Given the description of an element on the screen output the (x, y) to click on. 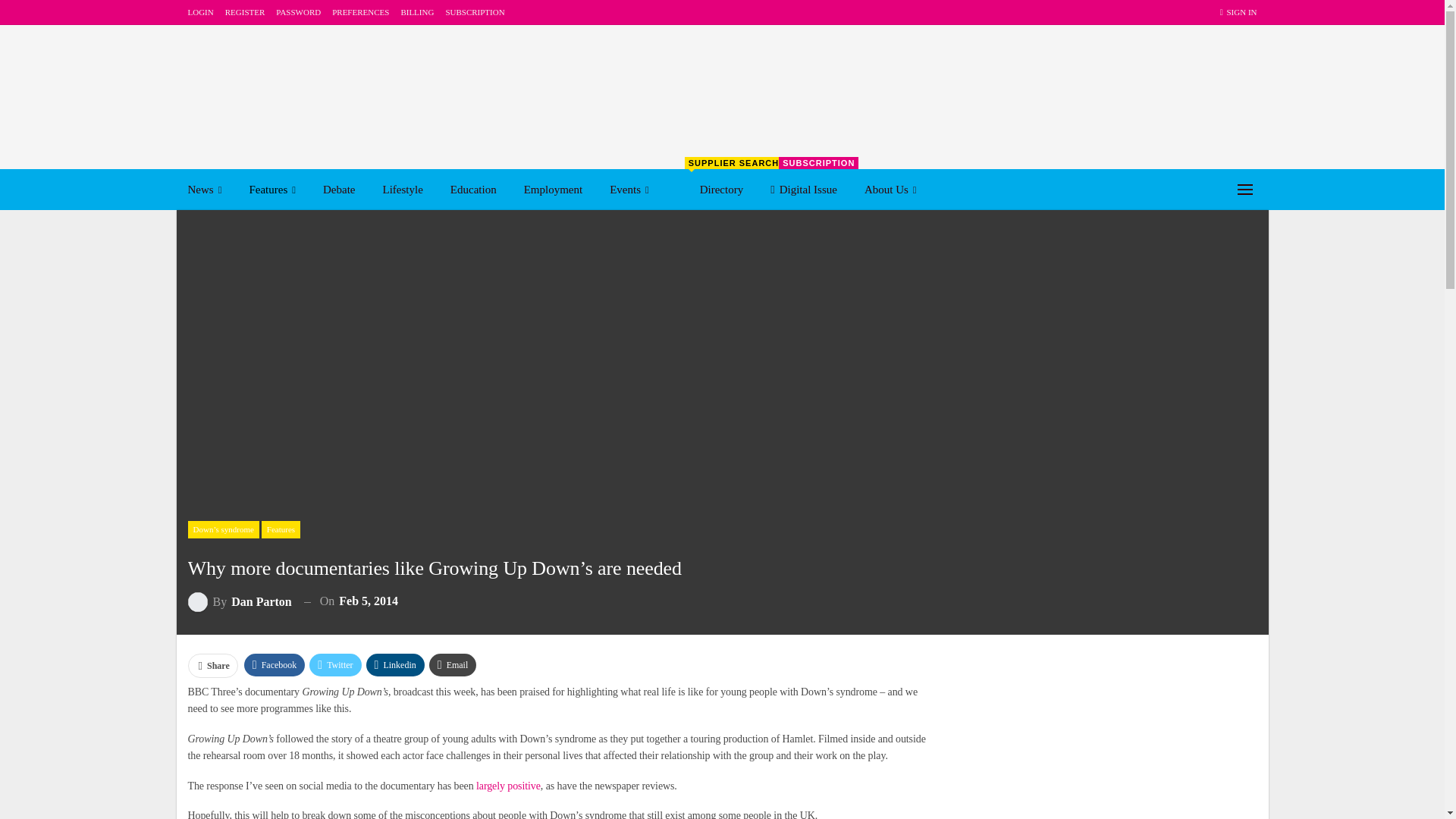
SIGN IN (1238, 12)
Features (271, 188)
BILLING (416, 11)
LOGIN (200, 11)
PASSWORD (298, 11)
REGISTER (244, 11)
SUBSCRIPTION (474, 11)
PREFERENCES (359, 11)
Browse Author Articles (239, 601)
Lifestyle (401, 188)
